Given the description of an element on the screen output the (x, y) to click on. 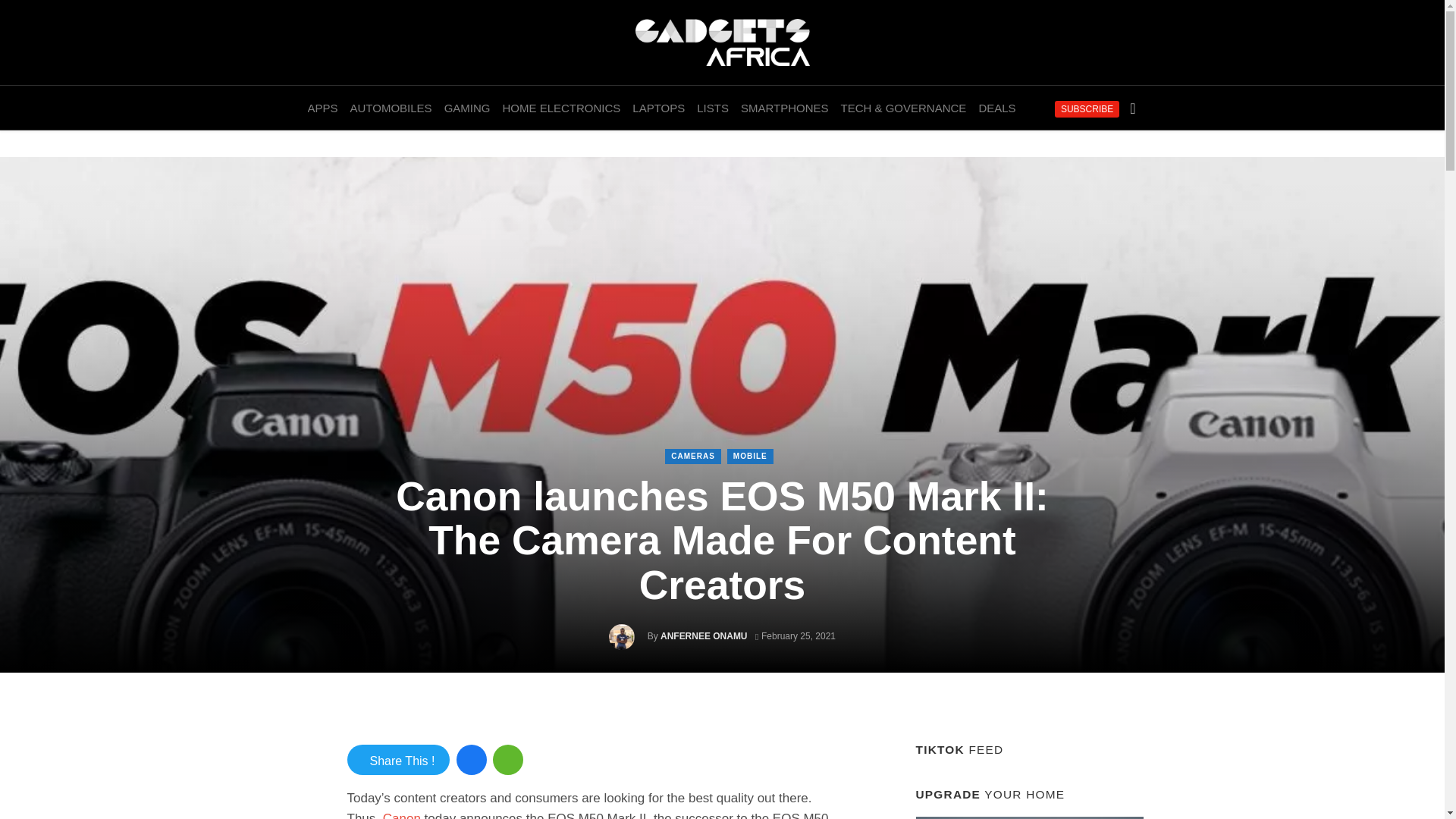
DEALS (997, 108)
Canon (401, 815)
Tweet this ! (398, 759)
Posts by Anfernee Onamu (704, 635)
LISTS (712, 108)
MOBILE (749, 456)
AUTOMOBILES (390, 108)
CAMERAS (692, 456)
SMARTPHONES (784, 108)
WhatsApp (507, 759)
